Given the description of an element on the screen output the (x, y) to click on. 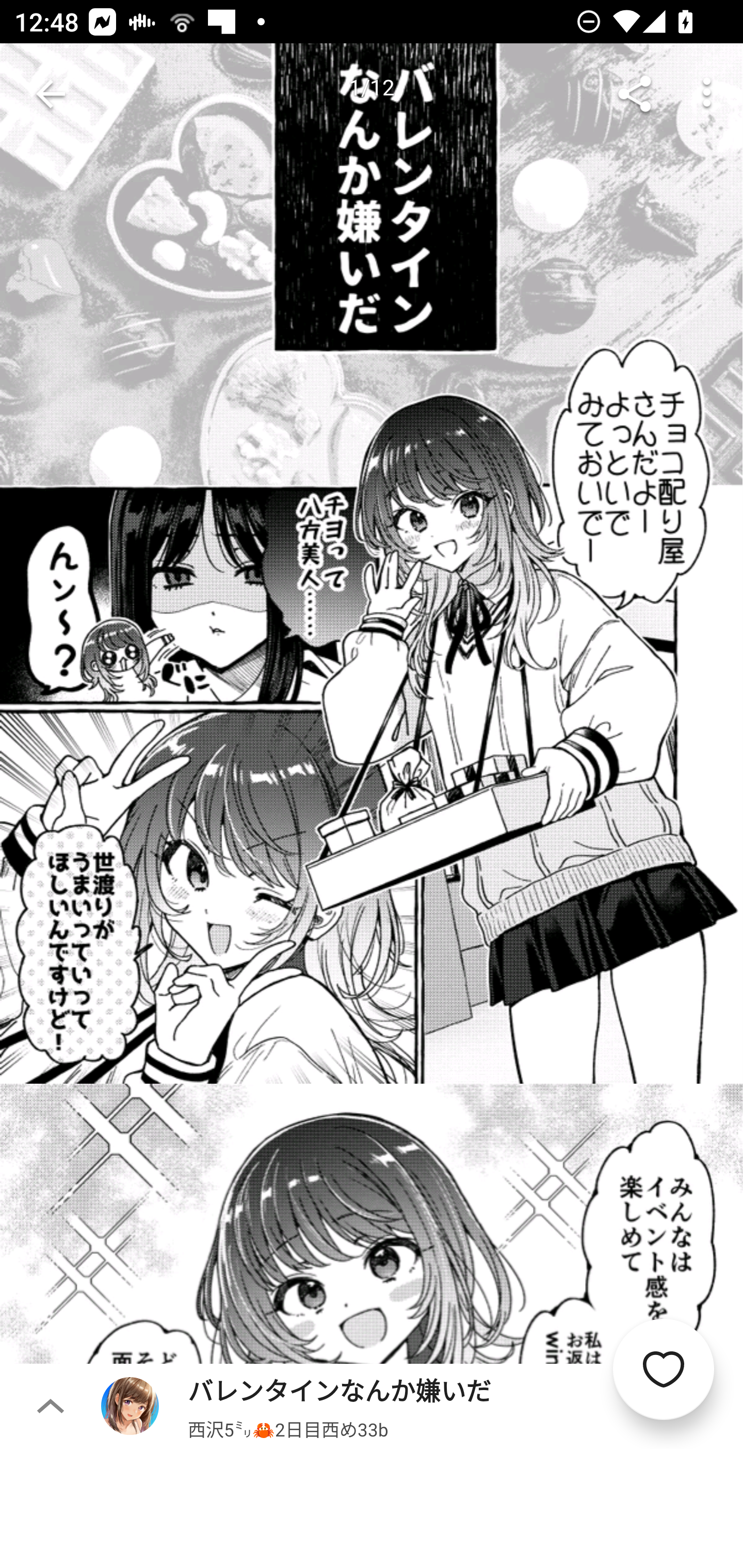
Share (634, 93)
More options (706, 93)
バレンタインなんか嫌いだ 西沢5㍉🦀2日目西め33b (422, 1405)
西沢5㍉🦀2日目西め33b (287, 1427)
